Given the description of an element on the screen output the (x, y) to click on. 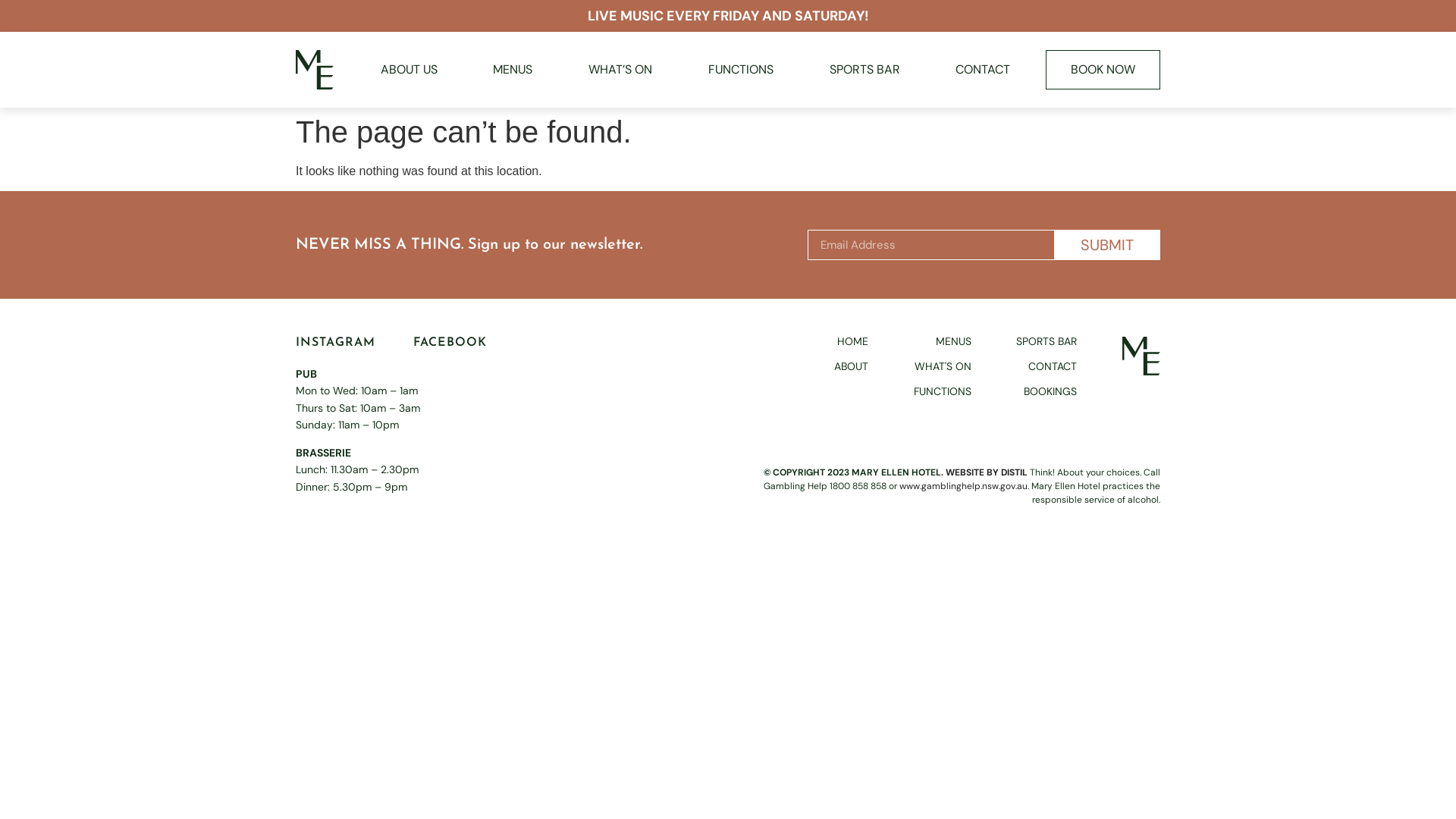
ABOUT US Element type: text (408, 69)
WEBSITE BY DISTIL Element type: text (986, 471)
ABOUT Element type: text (851, 366)
BOOKINGS Element type: text (1046, 391)
CONTACT Element type: text (982, 69)
MENUS Element type: text (942, 341)
FACEBOOK Element type: text (449, 343)
www.gamblinghelp.nsw.gov.au Element type: text (963, 485)
INSTAGRAM Element type: text (335, 343)
FUNCTIONS Element type: text (942, 391)
SPORTS BAR Element type: text (1046, 341)
MENUS Element type: text (513, 69)
SPORTS BAR Element type: text (864, 69)
FUNCTIONS Element type: text (740, 69)
SUBMIT Element type: text (1107, 244)
WHAT'S ON Element type: text (942, 366)
CONTACT Element type: text (1046, 366)
HOME Element type: text (851, 341)
BOOK NOW Element type: text (1102, 69)
